Given the description of an element on the screen output the (x, y) to click on. 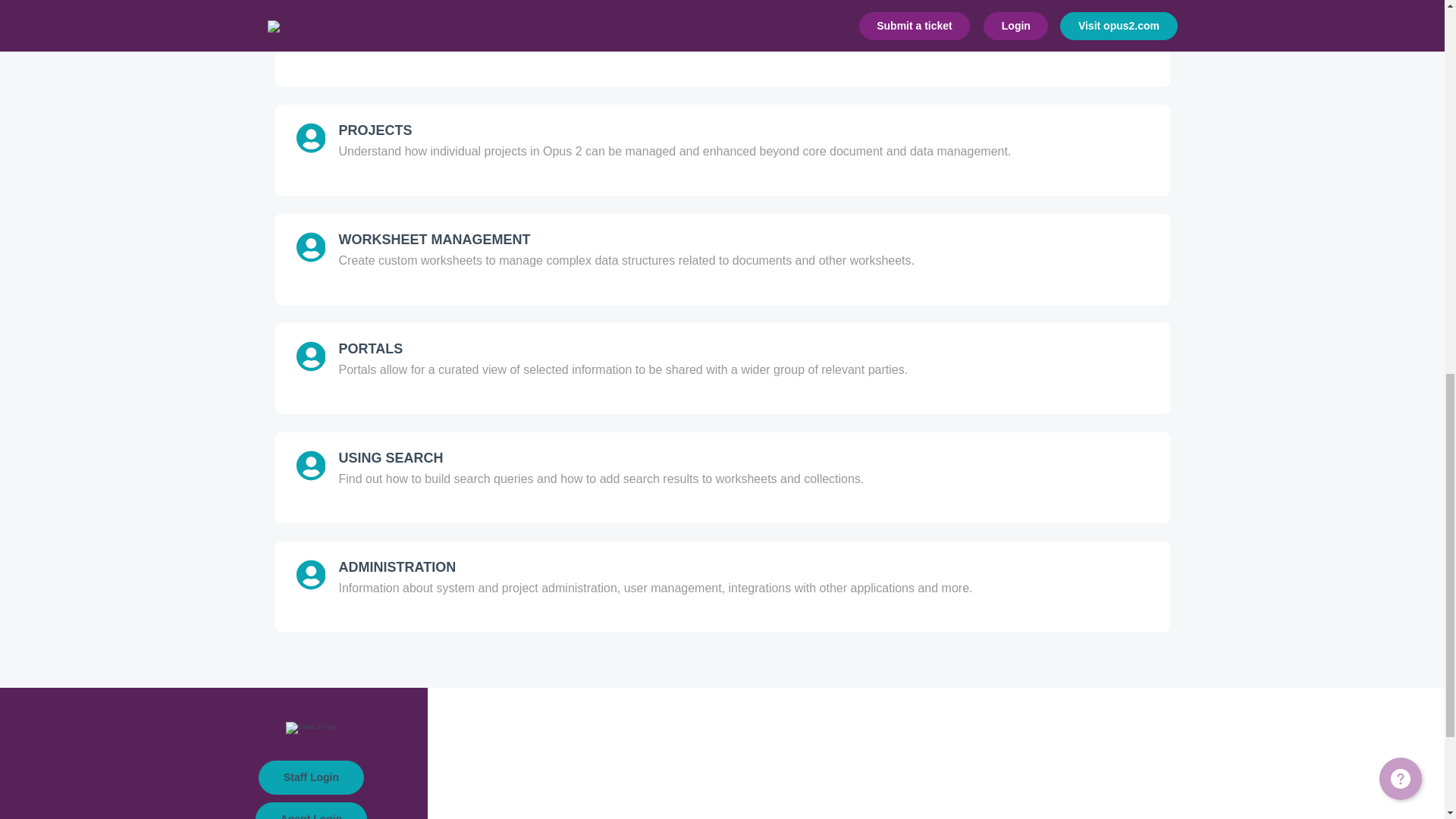
Staff Login (311, 777)
Opus 2 logo (310, 727)
Agent Login (312, 810)
